Given the description of an element on the screen output the (x, y) to click on. 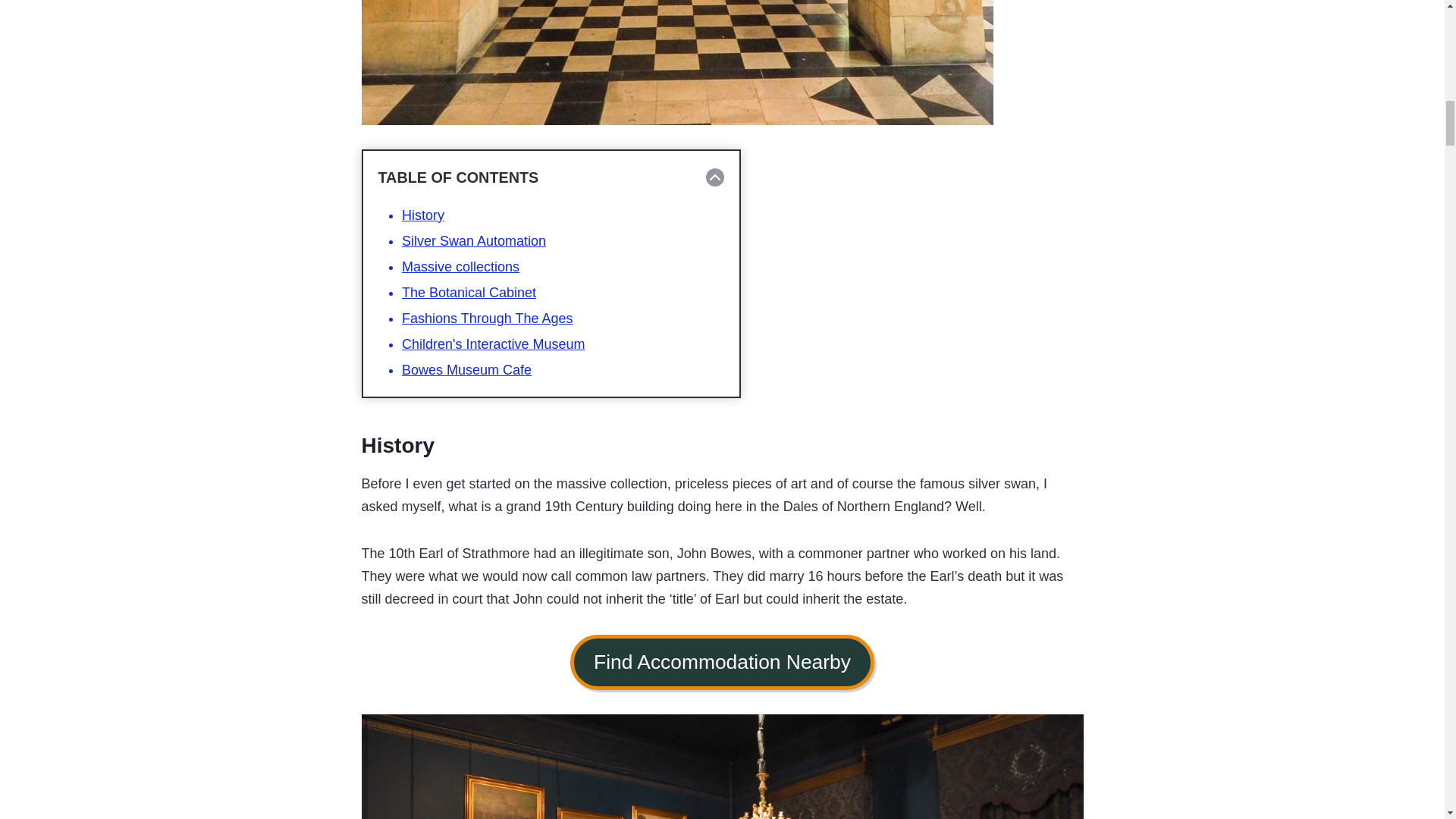
History (422, 215)
